Given the description of an element on the screen output the (x, y) to click on. 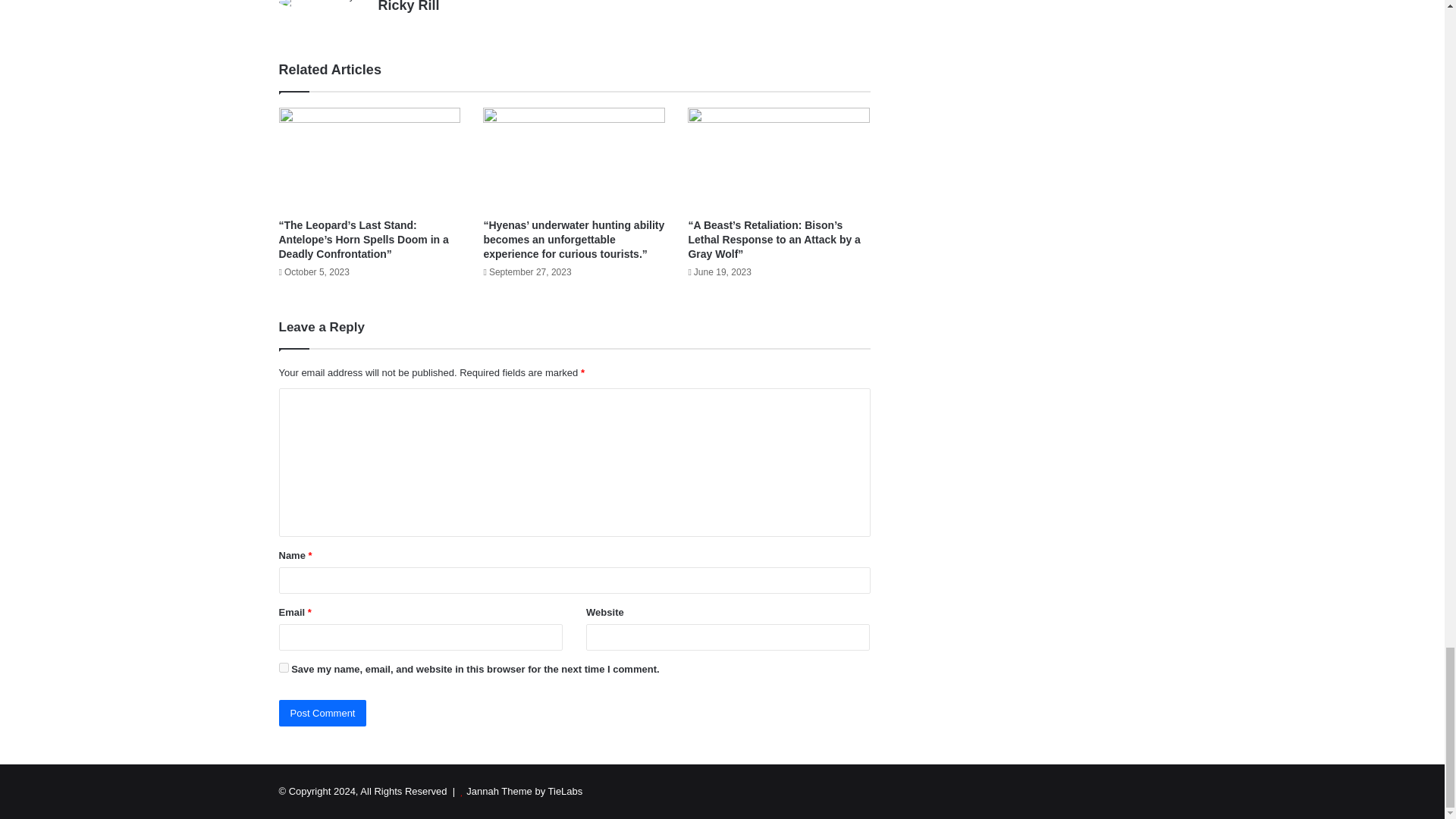
Ricky Rill (408, 6)
yes (283, 667)
Post Comment (322, 713)
